Given the description of an element on the screen output the (x, y) to click on. 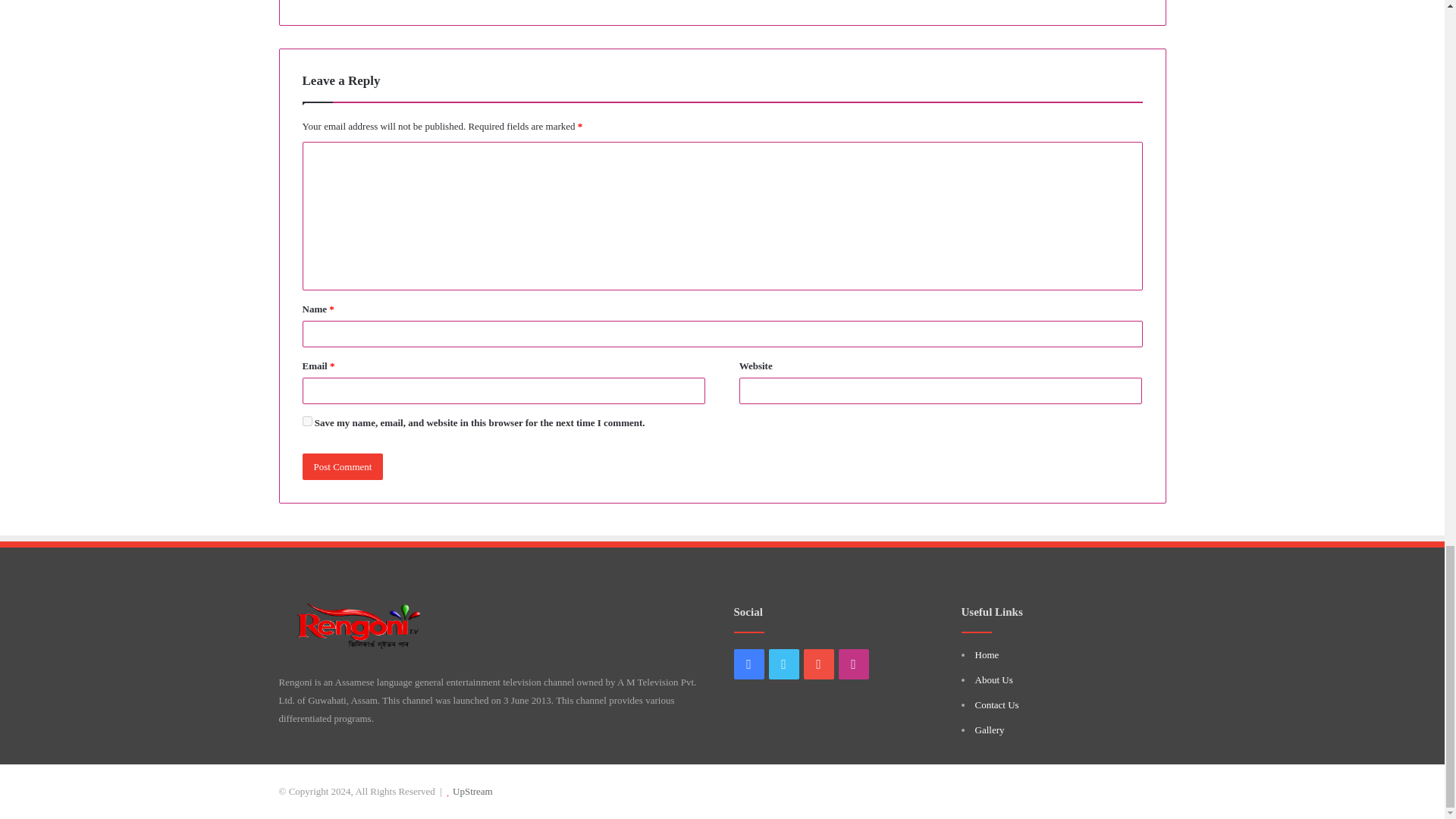
Post Comment (341, 466)
yes (306, 420)
